Given the description of an element on the screen output the (x, y) to click on. 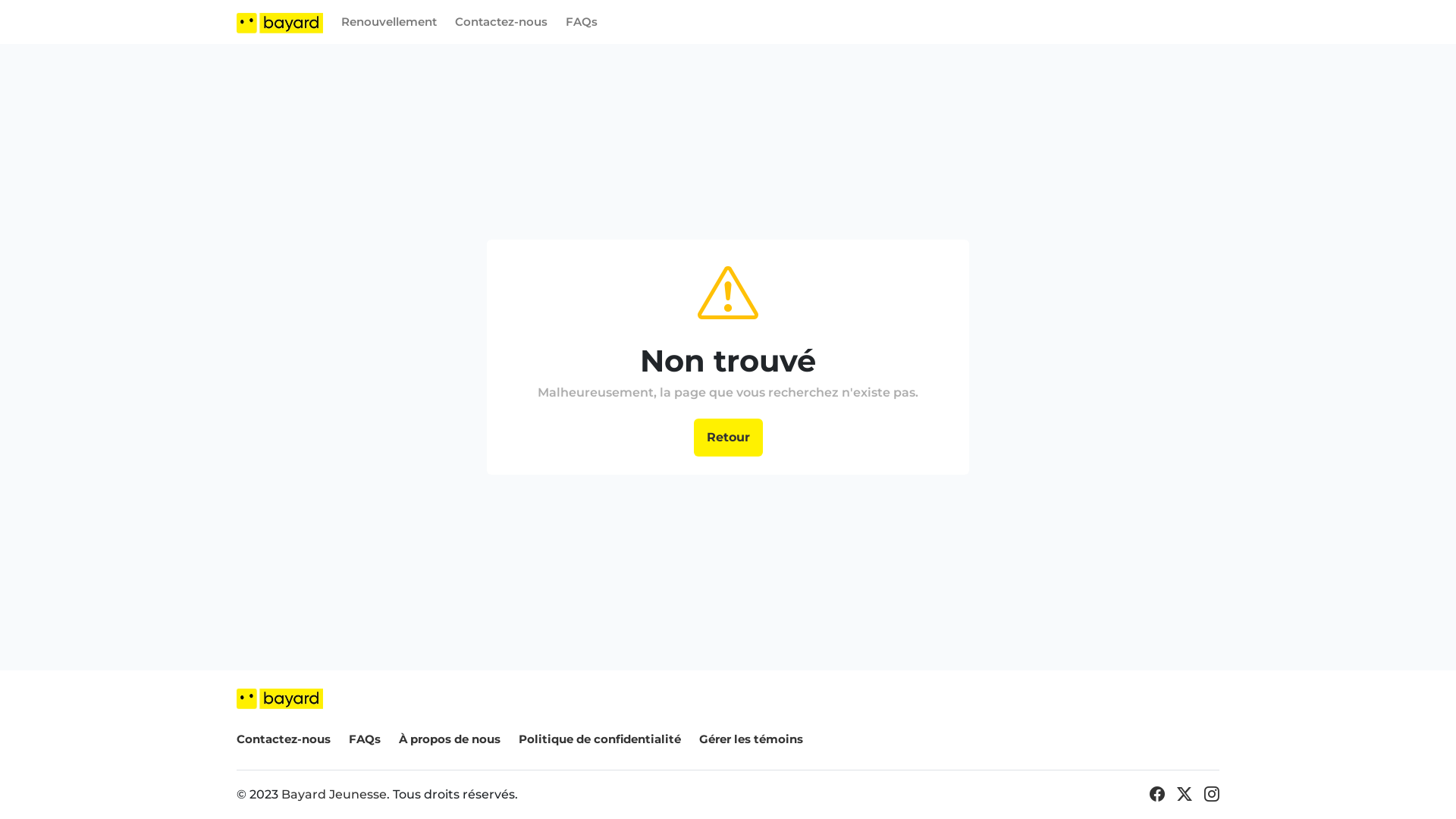
Bayard Jeunesse Element type: text (333, 794)
Retour Element type: text (727, 437)
Contactez-nous Element type: text (500, 21)
Contactez-nous Element type: text (283, 739)
Renouvellement Element type: text (388, 21)
FAQs Element type: text (581, 21)
FAQs Element type: text (364, 739)
